Given the description of an element on the screen output the (x, y) to click on. 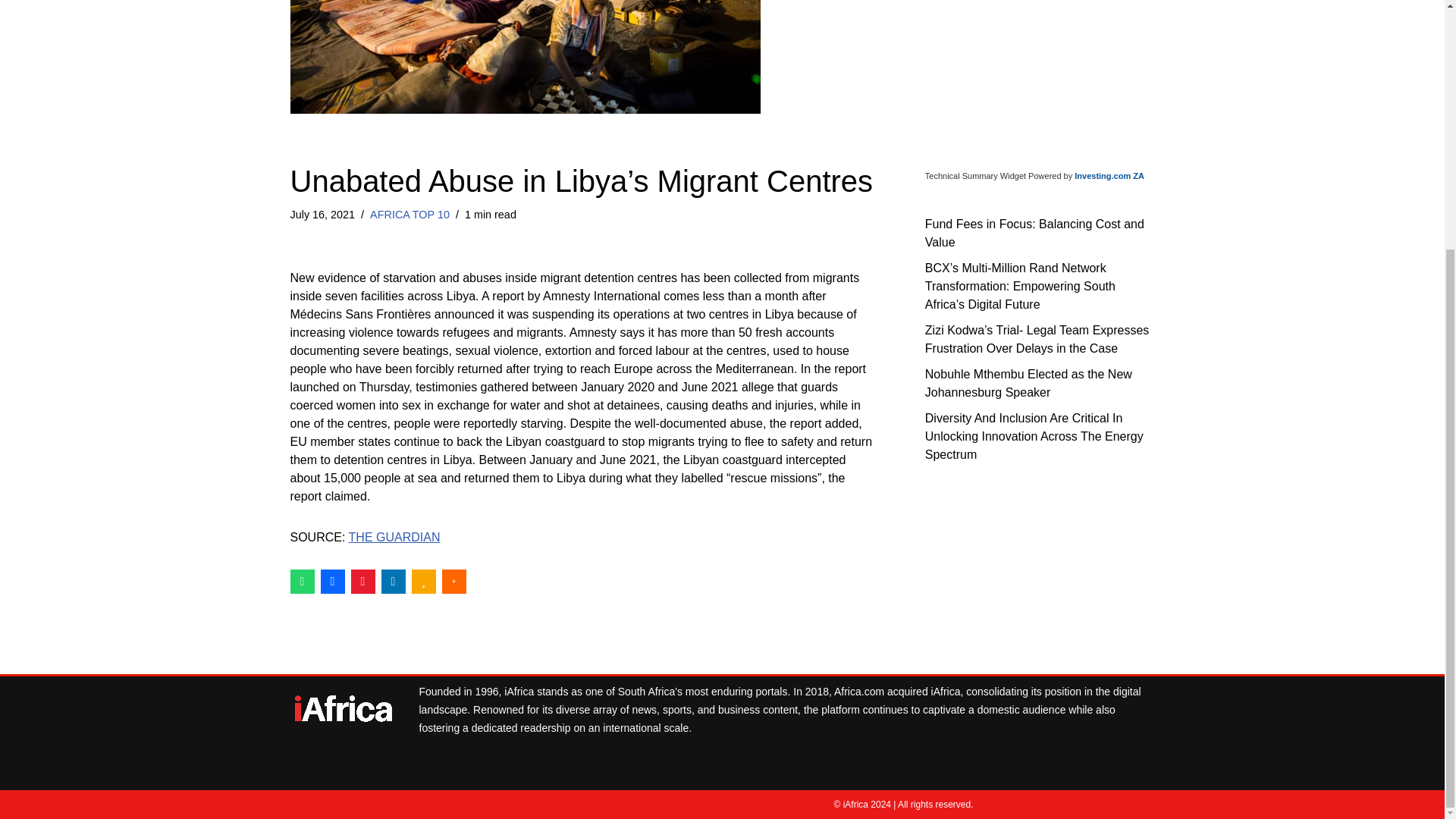
Nobuhle Mthembu Elected as the New Johannesburg Speaker (1028, 382)
THE GUARDIAN (395, 536)
AFRICA TOP 10 (409, 214)
More share links (453, 580)
Convert to PDF (362, 580)
Add to favorites (422, 580)
Investing.com ZA (1109, 175)
Add this to LinkedIn (392, 580)
Share this on Facebook (331, 580)
